Given the description of an element on the screen output the (x, y) to click on. 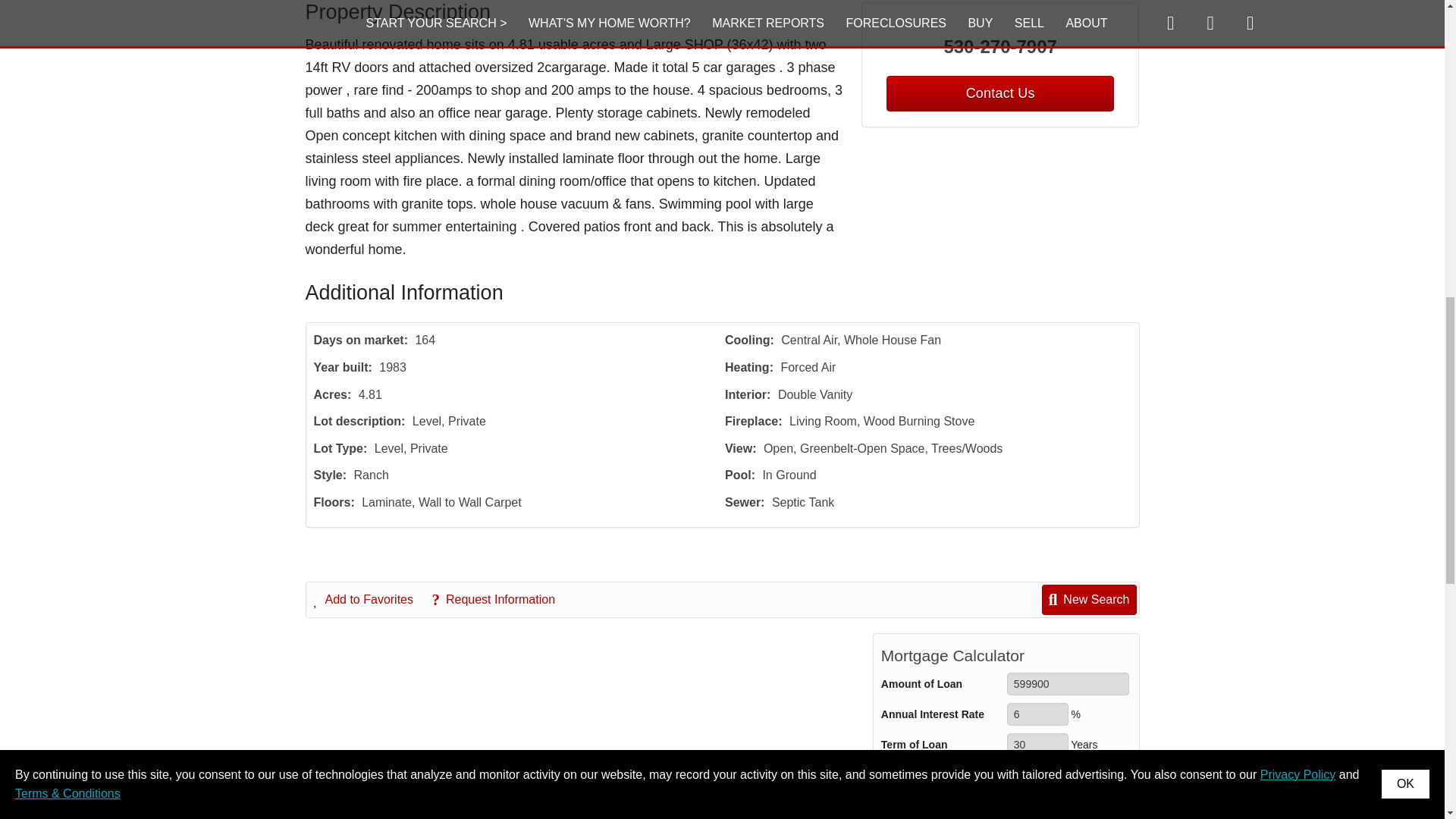
6 (1037, 713)
30 (1037, 744)
599900 (1068, 683)
530-270-7907 (1000, 46)
Contact Us (999, 93)
